Given the description of an element on the screen output the (x, y) to click on. 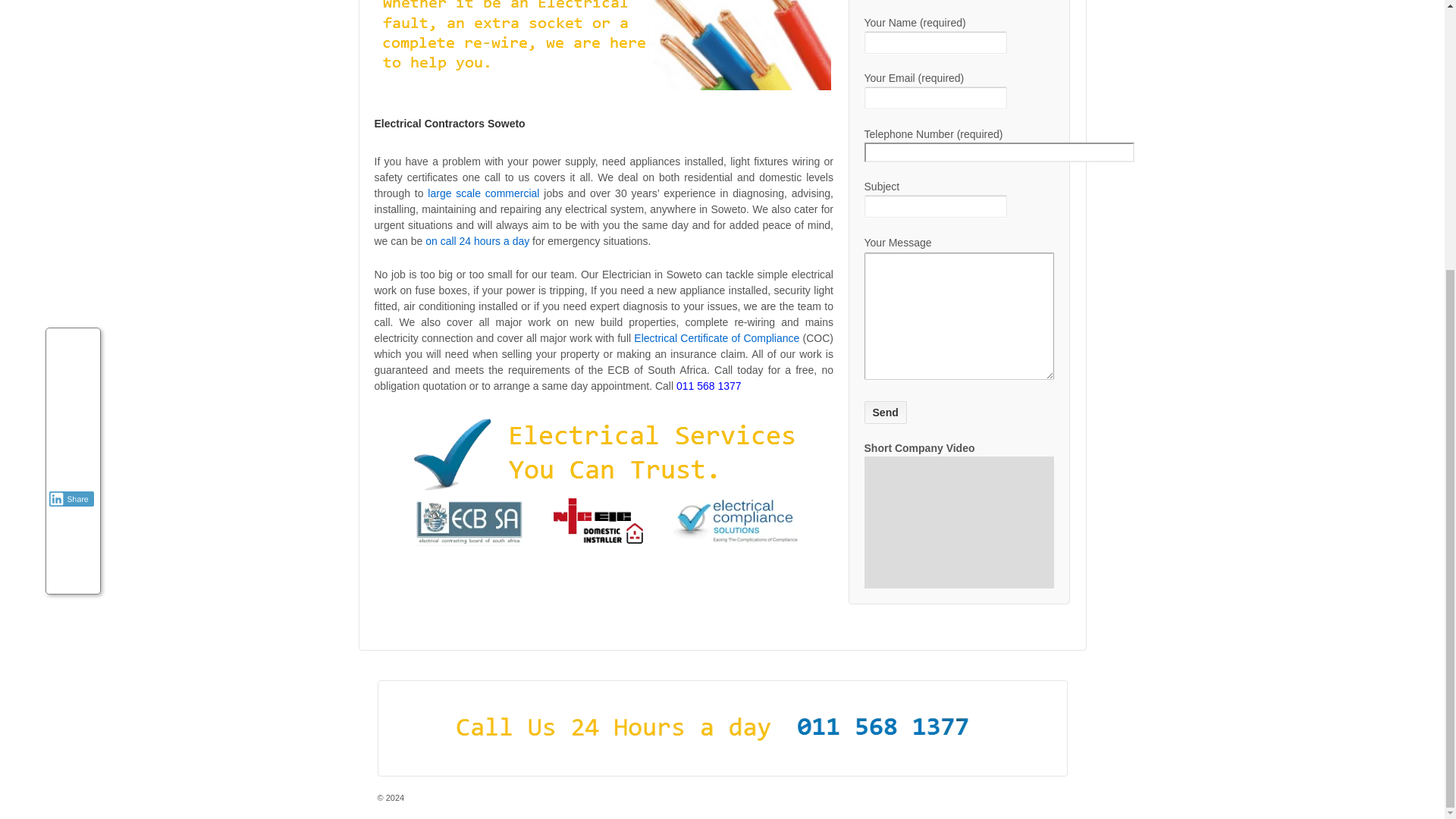
Electrical Certificate of Compliance (716, 337)
Send (885, 412)
Share (71, 105)
Send (885, 412)
on call 24 hours a day (477, 241)
large scale commercial (483, 193)
